Given the description of an element on the screen output the (x, y) to click on. 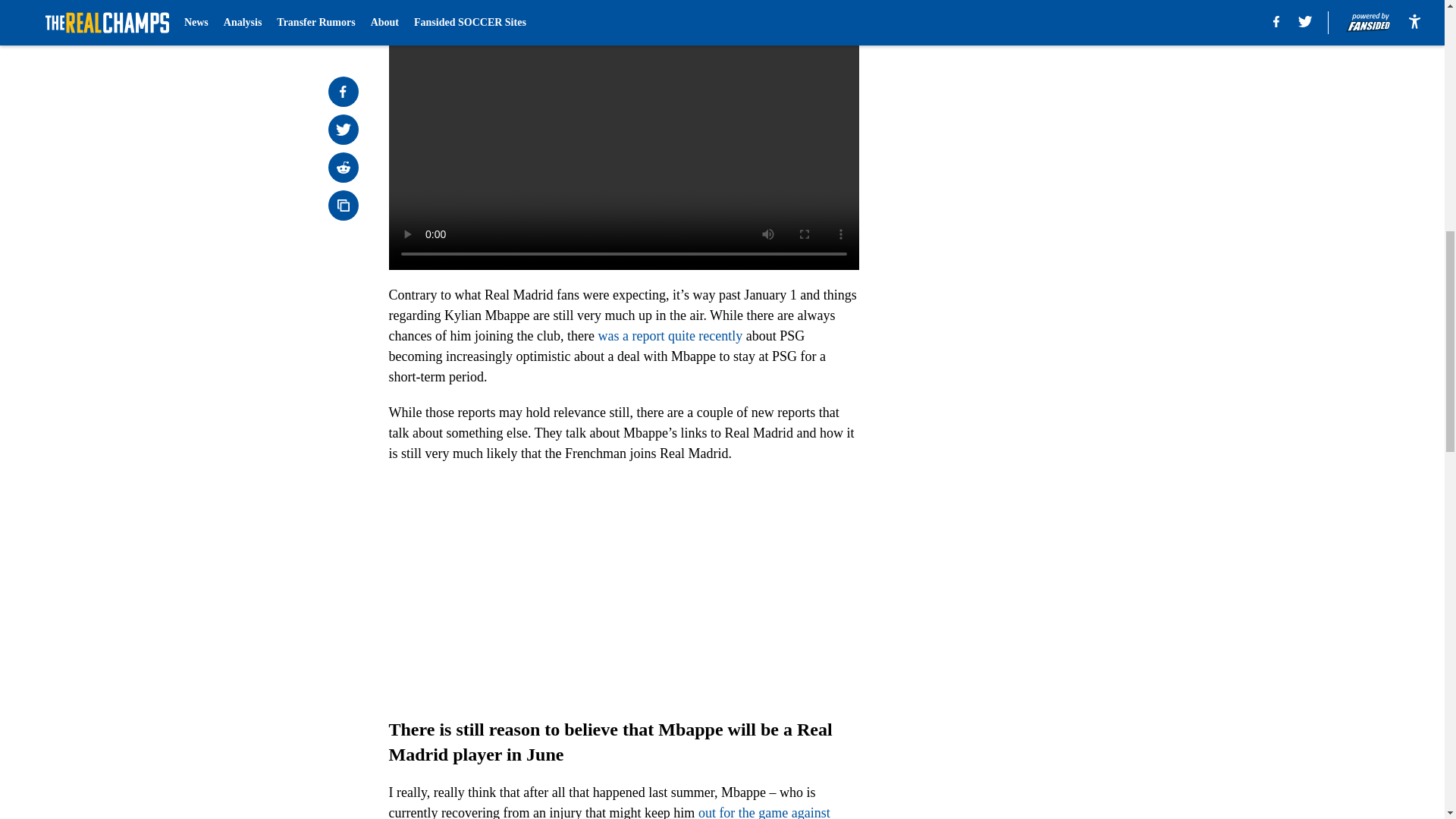
out for the game against Madrid (608, 812)
3rd party ad content (1047, 320)
3rd party ad content (1047, 100)
was a report quite recently (669, 335)
